Given the description of an element on the screen output the (x, y) to click on. 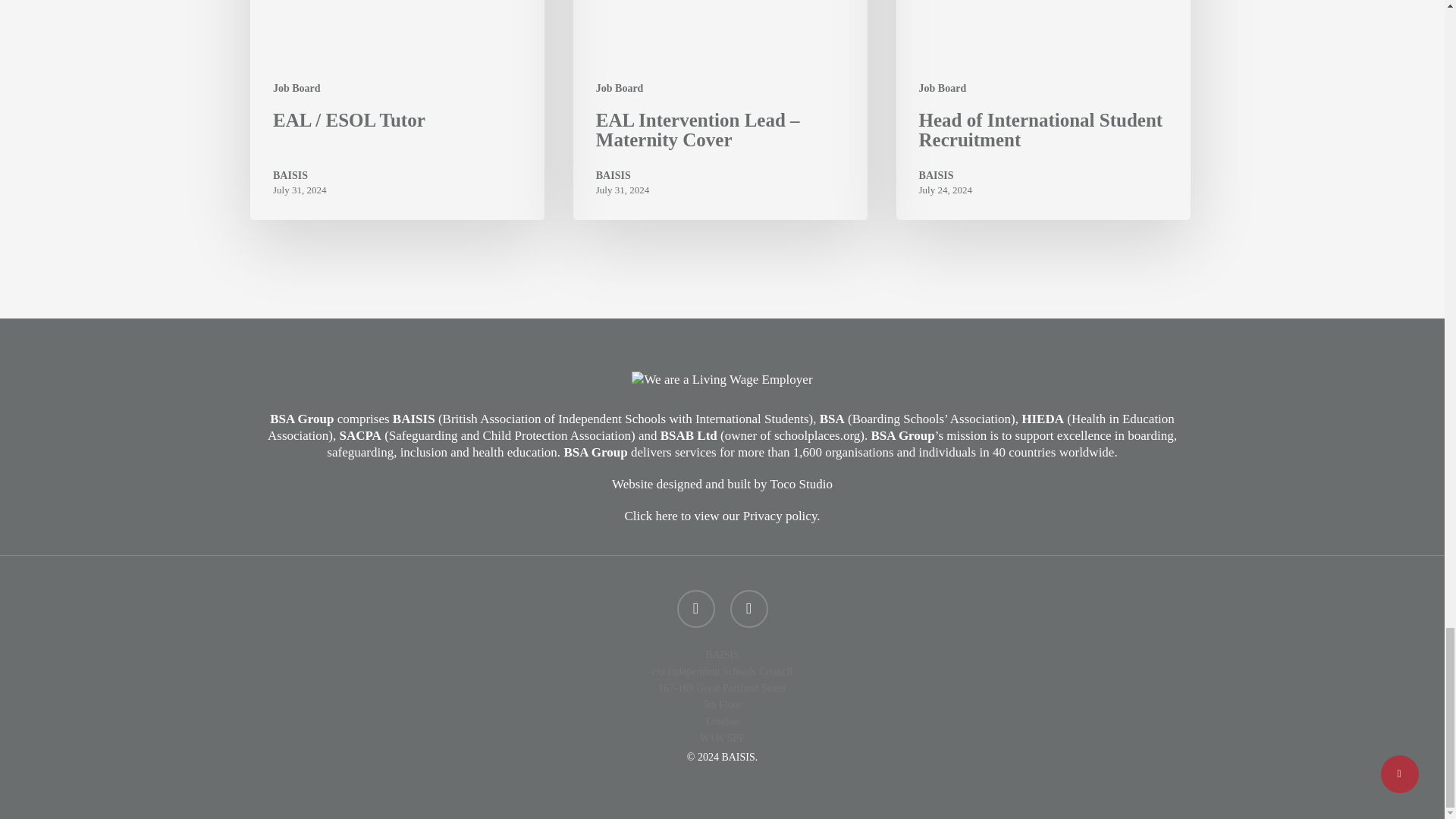
BAISIS (622, 175)
BAISIS (299, 175)
Job Board (942, 88)
Job Board (619, 88)
Job Board (296, 88)
Head of International Student Recruitment (1043, 110)
